Given the description of an element on the screen output the (x, y) to click on. 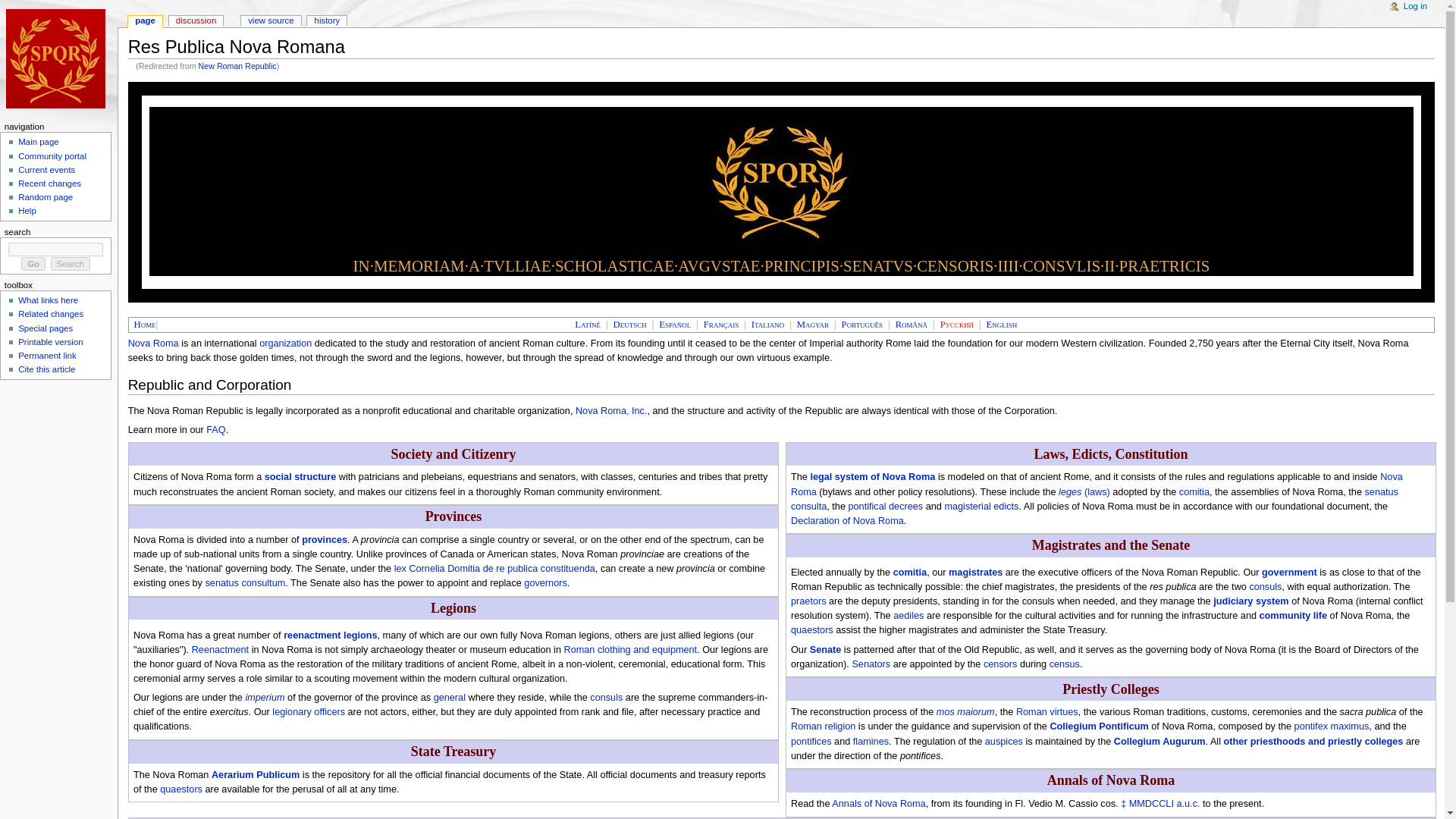
Reenactment (220, 649)
Search (70, 264)
Nova Roma, Inc. (611, 410)
organization (285, 343)
English (1002, 324)
provinces (324, 539)
Home (144, 324)
Roman clothing and equipment (630, 649)
ES:Res publica Novae Romae (674, 324)
quaestors (181, 788)
